Given the description of an element on the screen output the (x, y) to click on. 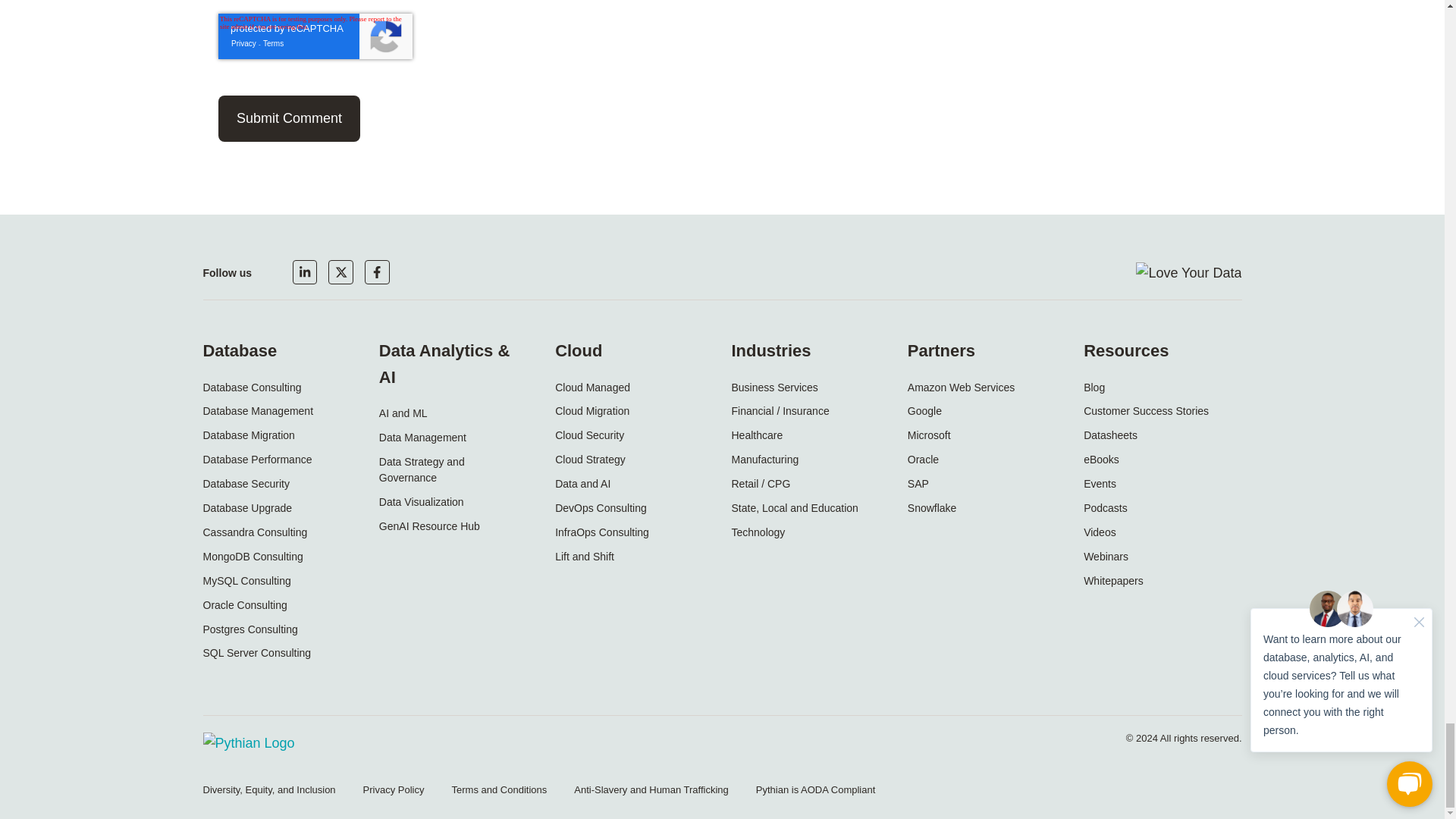
reCAPTCHA (315, 35)
Submit Comment (289, 118)
